Given the description of an element on the screen output the (x, y) to click on. 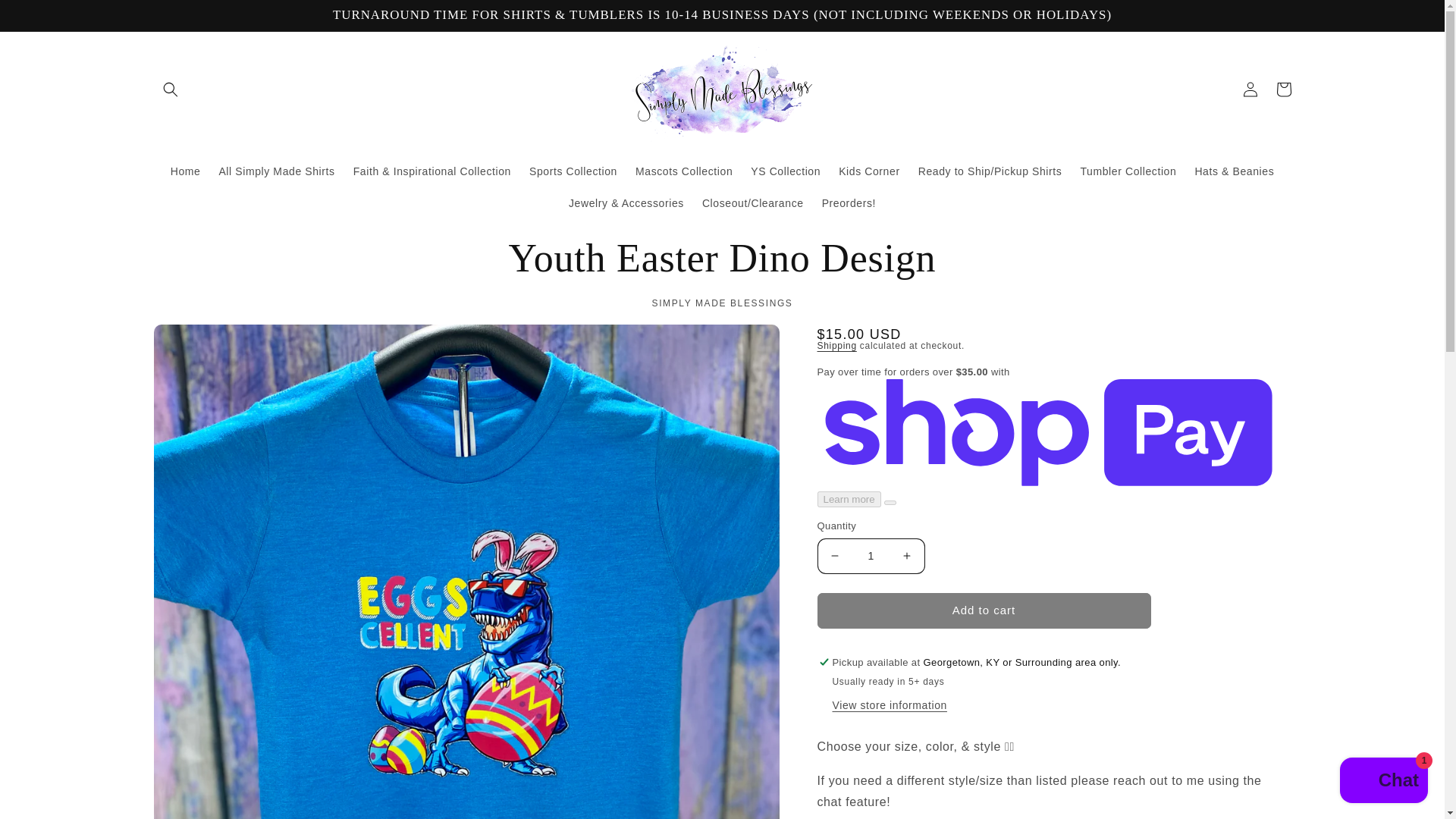
Home (185, 171)
YS Collection (785, 171)
1 (870, 556)
Shopify online store chat (1383, 781)
Mascots Collection (683, 171)
Tumbler Collection (1127, 171)
Log in (1249, 89)
Skip to content (45, 17)
All Simply Made Shirts (276, 171)
Sports Collection (572, 171)
Kids Corner (868, 171)
Preorders! (848, 203)
